Given the description of an element on the screen output the (x, y) to click on. 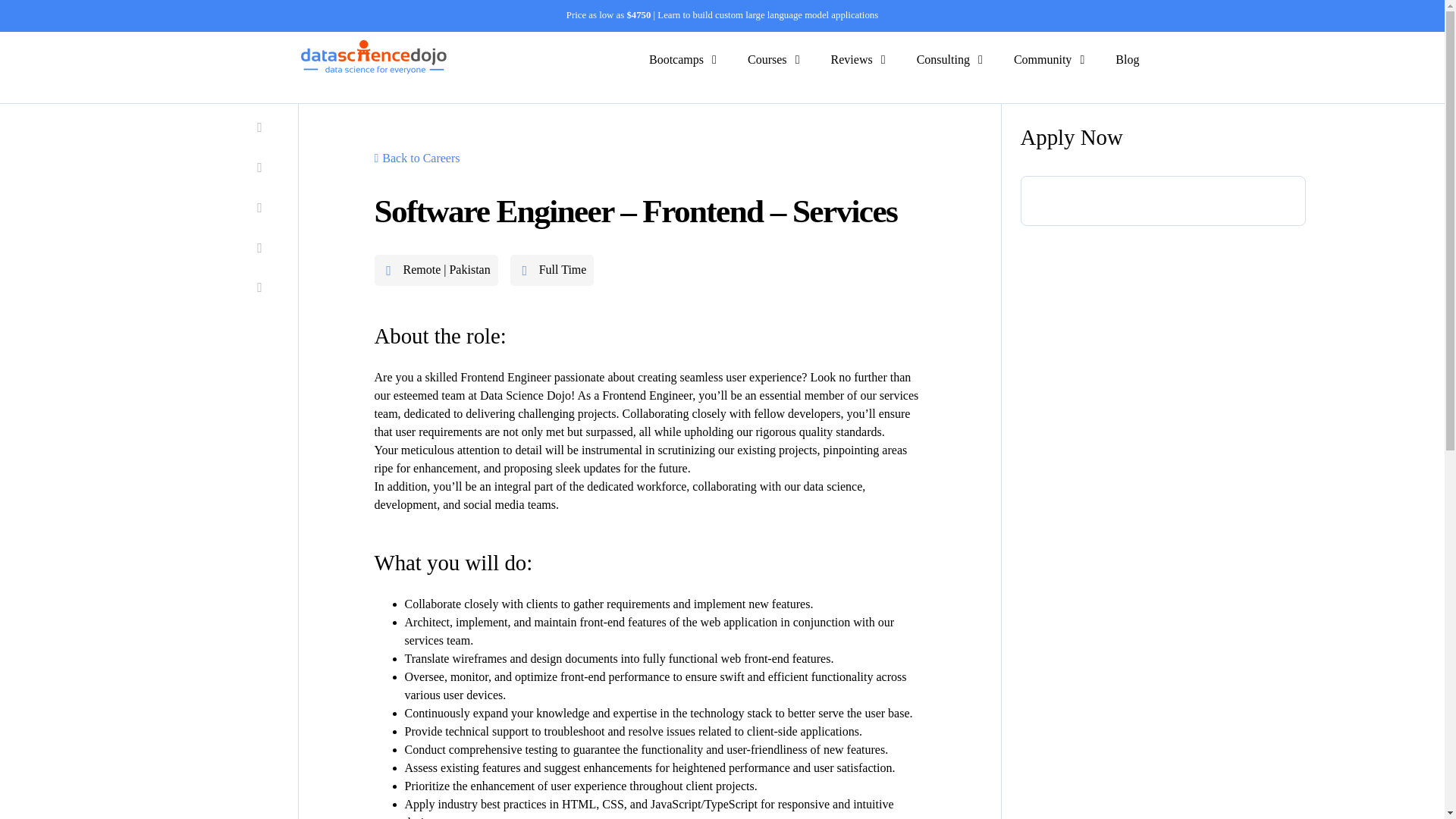
Back to Careers (417, 158)
Reviews (851, 59)
Community (1042, 59)
Blog (1126, 59)
Consulting (943, 59)
Courses (767, 59)
Bootcamps (676, 59)
